Given the description of an element on the screen output the (x, y) to click on. 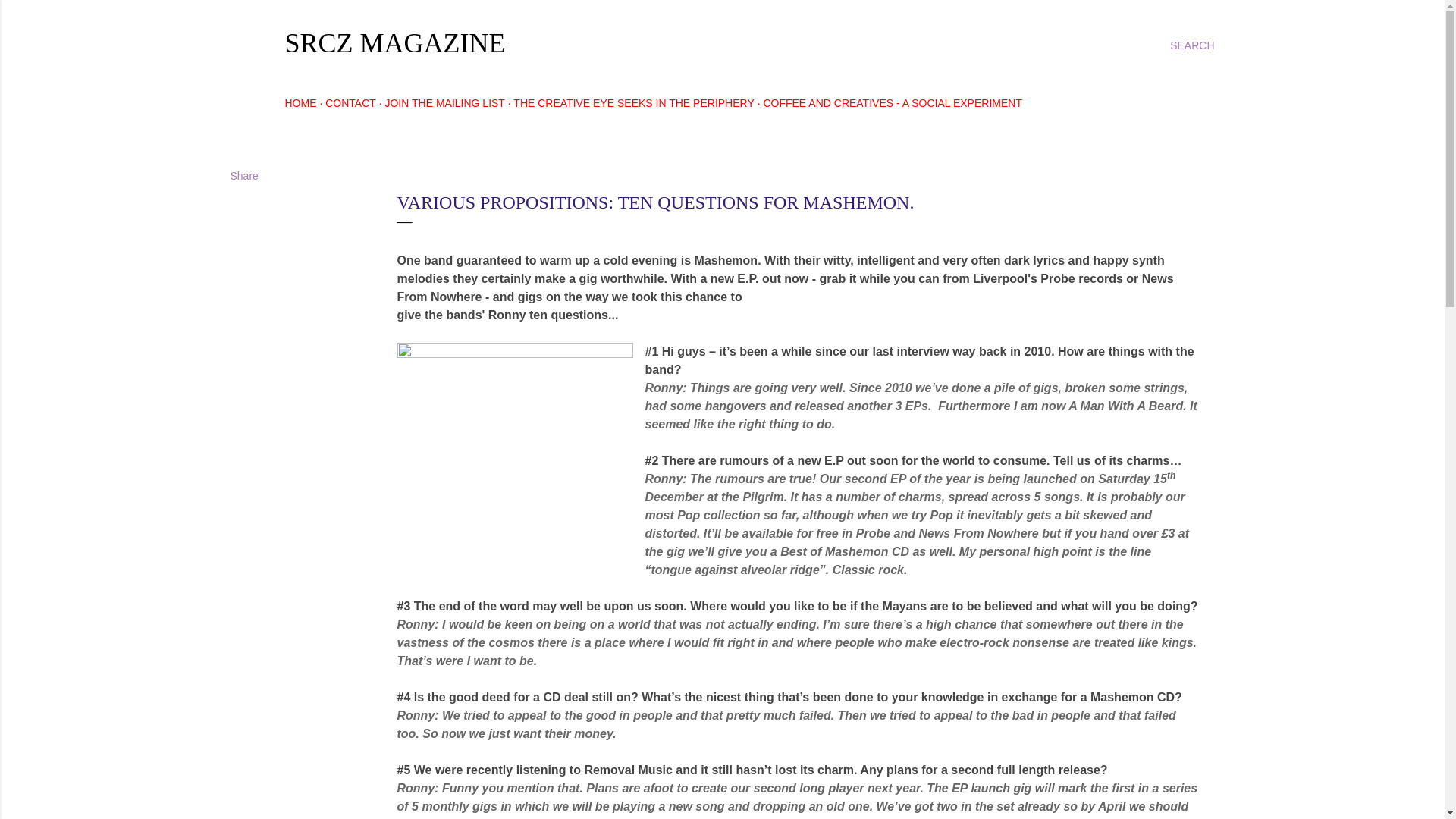
COFFEE AND CREATIVES - A SOCIAL EXPERIMENT (892, 102)
JOIN THE MAILING LIST (443, 102)
Share (244, 175)
CONTACT (349, 102)
December 14, 2012 (437, 174)
SEARCH (1192, 45)
permanent link (437, 174)
SRCZ MAGAZINE (395, 42)
HOME (301, 102)
THE CREATIVE EYE SEEKS IN THE PERIPHERY (633, 102)
